Given the description of an element on the screen output the (x, y) to click on. 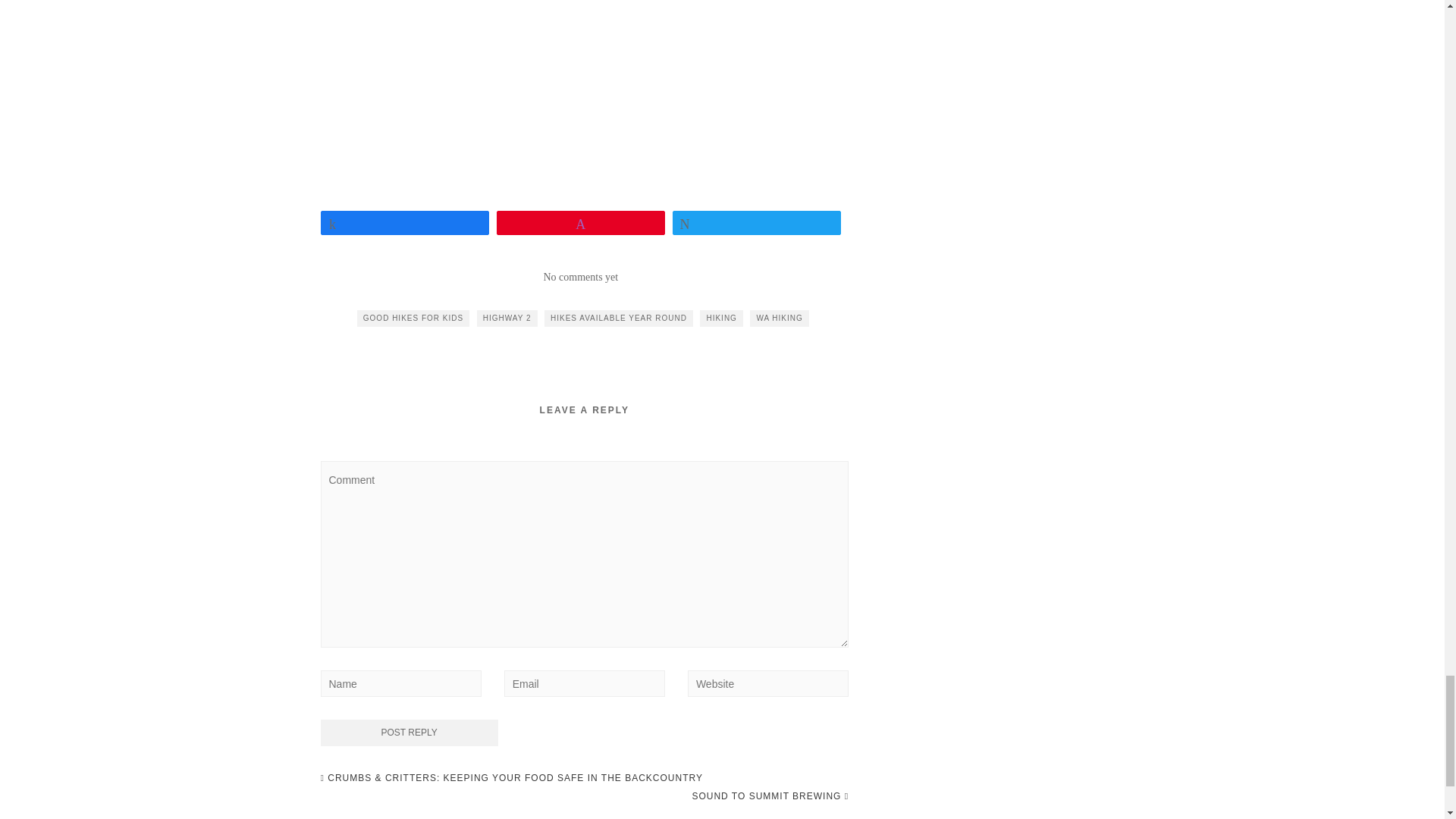
WA HIKING (778, 318)
SOUND TO SUMMIT BREWING (769, 796)
Post Reply (408, 732)
No comments yet (580, 276)
HIKES AVAILABLE YEAR ROUND (618, 318)
GOOD HIKES FOR KIDS (412, 318)
Post Reply (408, 732)
HIKING (721, 318)
HIGHWAY 2 (507, 318)
